Given the description of an element on the screen output the (x, y) to click on. 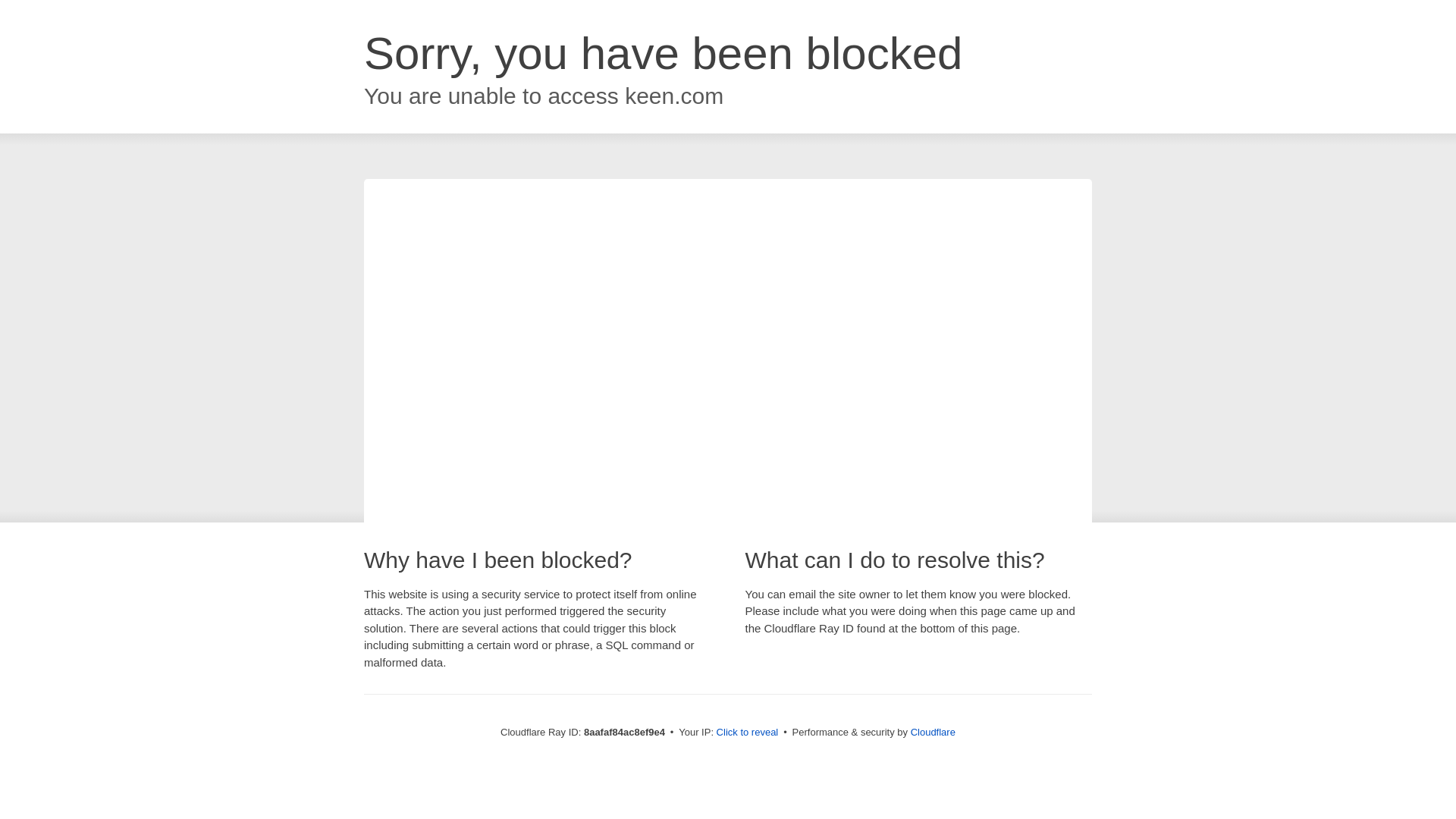
Cloudflare (933, 731)
Click to reveal (747, 732)
